Given the description of an element on the screen output the (x, y) to click on. 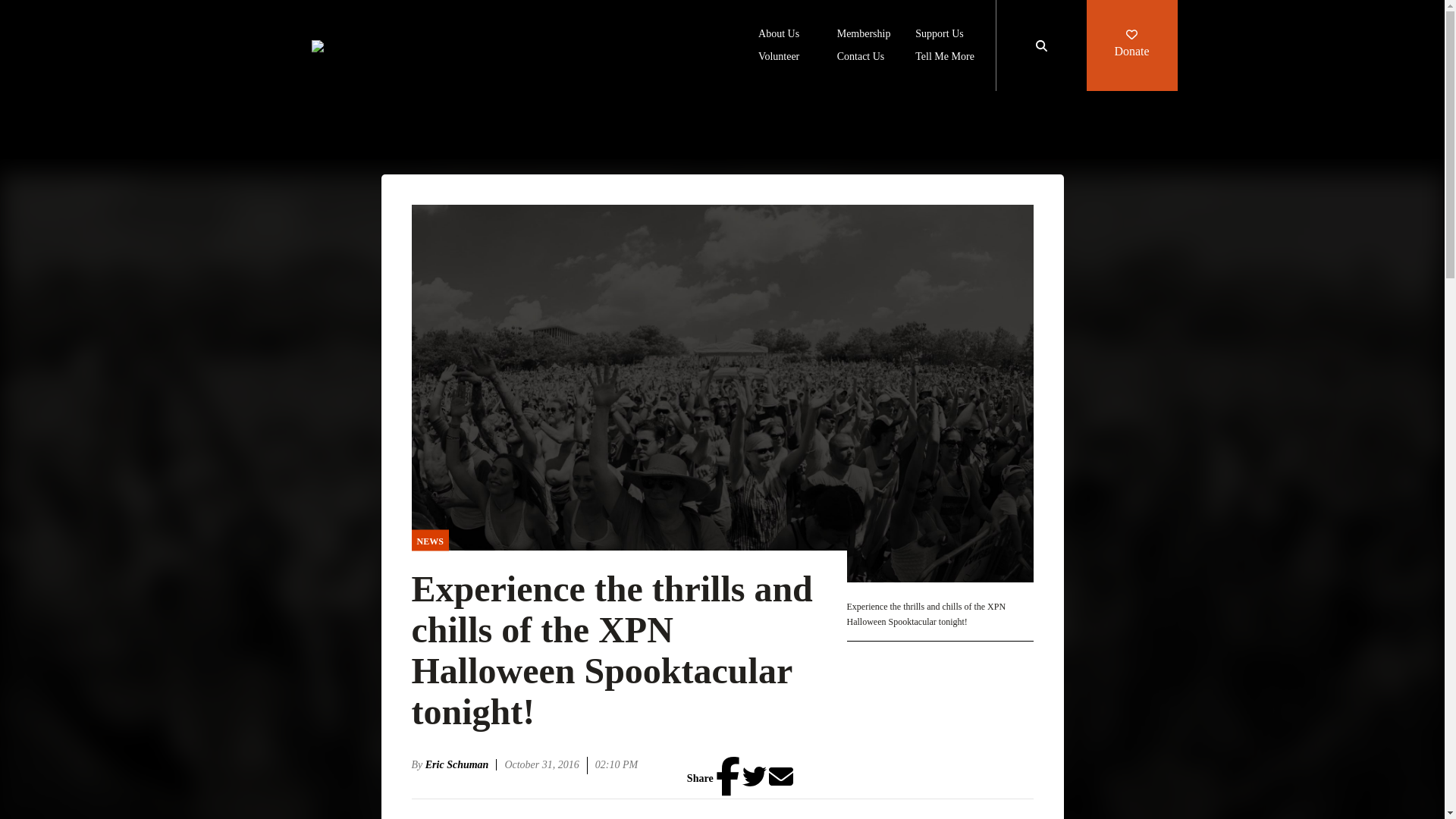
Contact Us (861, 57)
Support Us (938, 35)
Membership (864, 35)
Eric Schuman (461, 764)
Tell Me More (944, 57)
About Us (778, 35)
Donate (1131, 45)
Volunteer (778, 57)
